Given the description of an element on the screen output the (x, y) to click on. 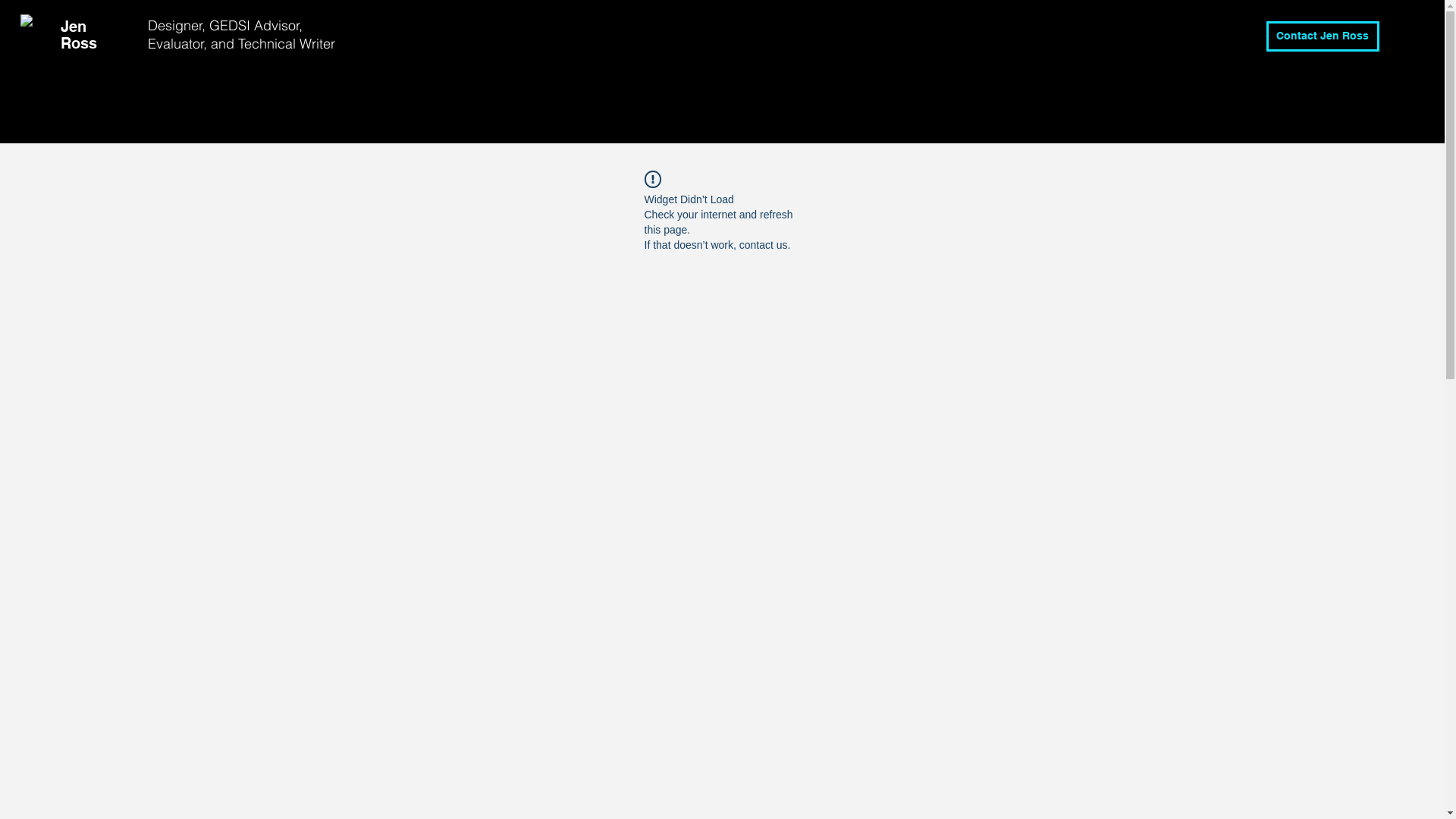
Writer  Element type: text (318, 43)
Jen Element type: text (73, 26)
Evaluator, and Technical  Element type: text (223, 43)
Designer, GEDSI Advisor, Element type: text (224, 25)
Contact Jen Ross Element type: text (1322, 36)
Ross Element type: text (78, 43)
